Given the description of an element on the screen output the (x, y) to click on. 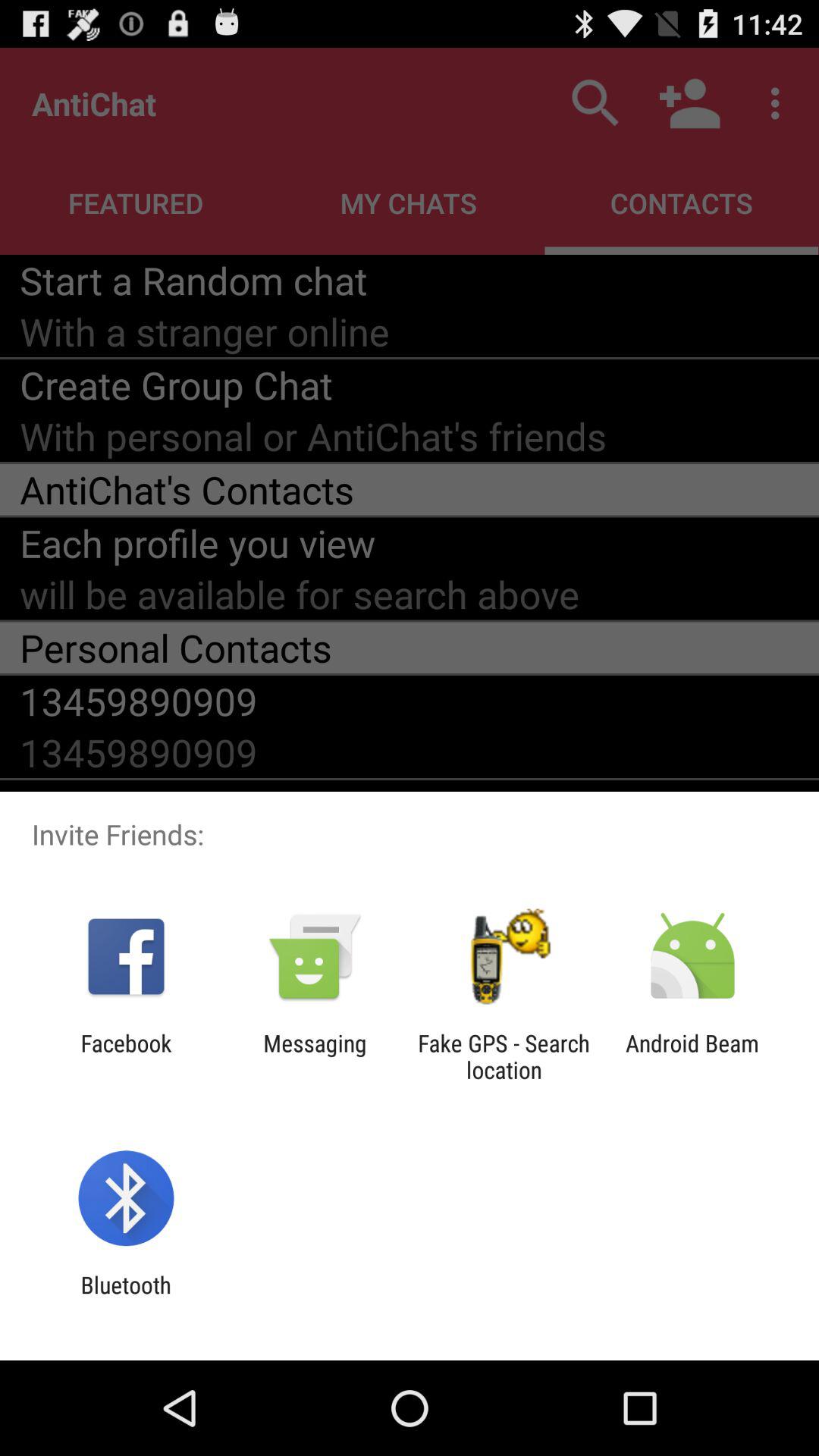
press android beam app (692, 1056)
